Given the description of an element on the screen output the (x, y) to click on. 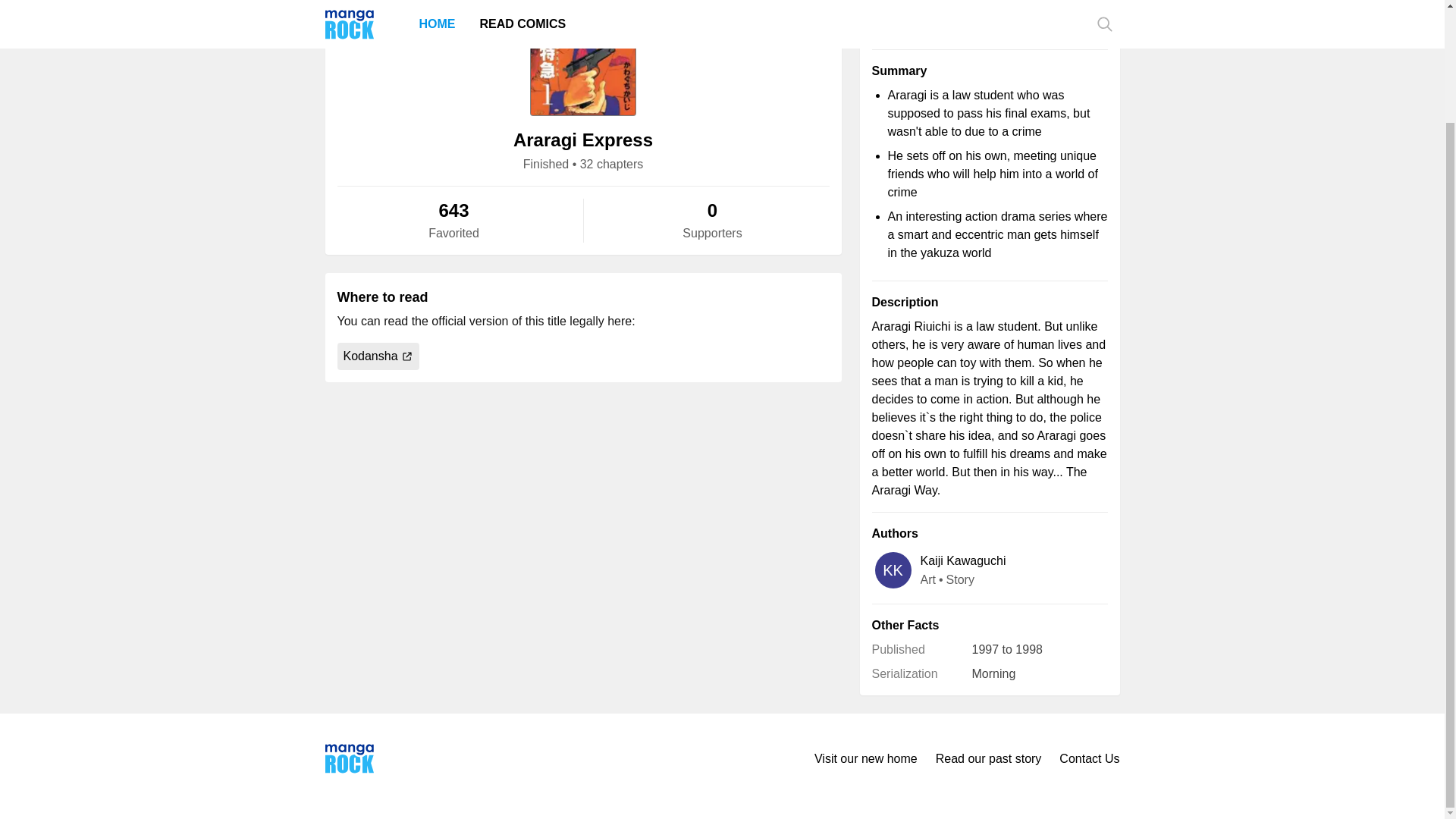
Read our past story (989, 758)
Kaiji Kawaguchi (963, 561)
Visit our new home (865, 758)
Contact Us (1089, 758)
Kodansha (377, 356)
